Given the description of an element on the screen output the (x, y) to click on. 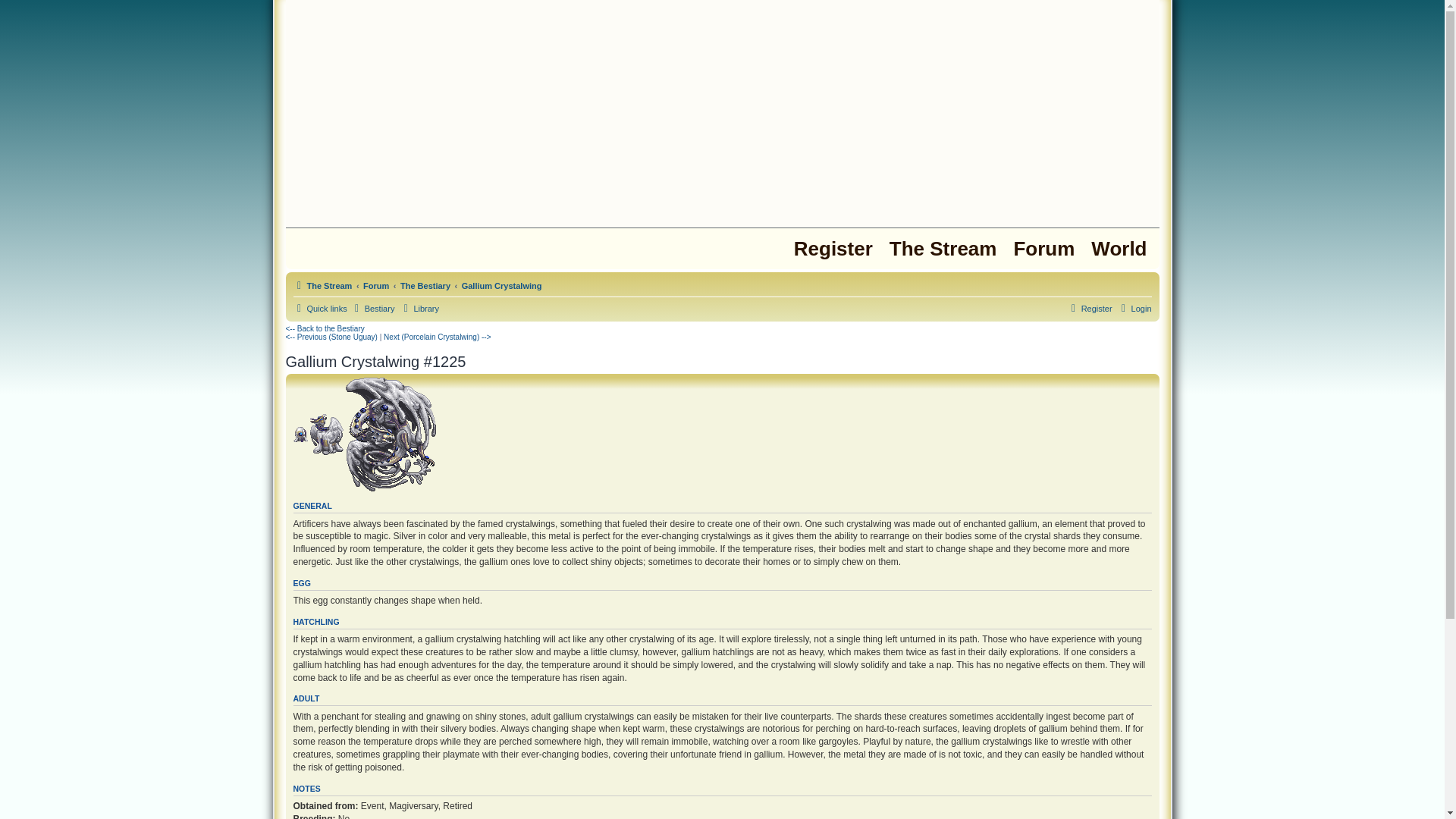
Login (1134, 308)
Index of the discussion boards (1043, 248)
An encyclopedia of Magistream creatures (372, 308)
The main Stream to pick up creatures from (943, 248)
The Stream (943, 248)
Gallium Crystalwing (501, 285)
Quick links (319, 308)
Login (1134, 308)
The Bestiary (424, 285)
Register (1089, 308)
